Given the description of an element on the screen output the (x, y) to click on. 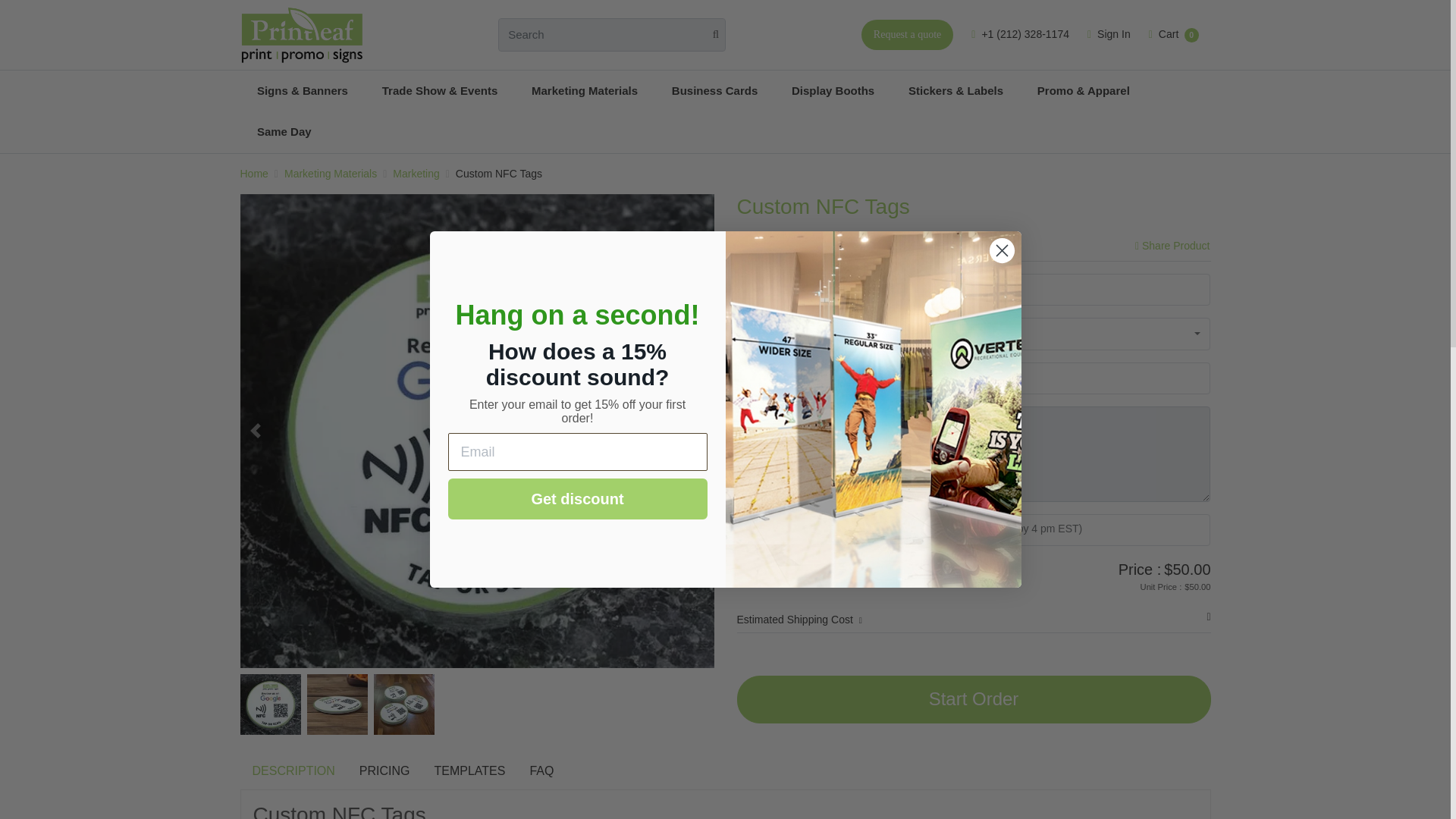
Request a quote (907, 34)
1 (1052, 333)
Sign In (1109, 34)
Front Only (1052, 377)
Cart  0 (1173, 34)
Close dialog 1 (1001, 250)
4" Diameter (1052, 289)
